Given the description of an element on the screen output the (x, y) to click on. 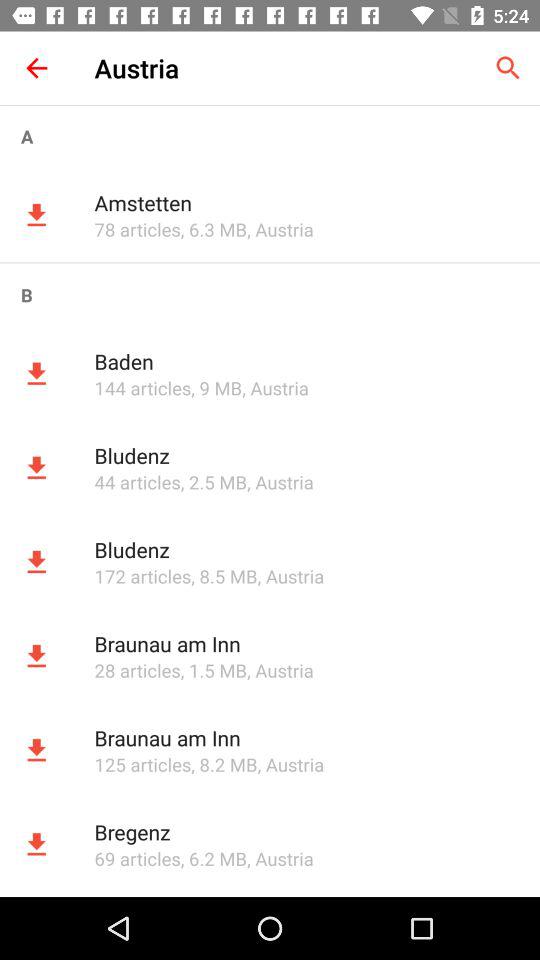
choose the app above bregenz icon (142, 764)
